Given the description of an element on the screen output the (x, y) to click on. 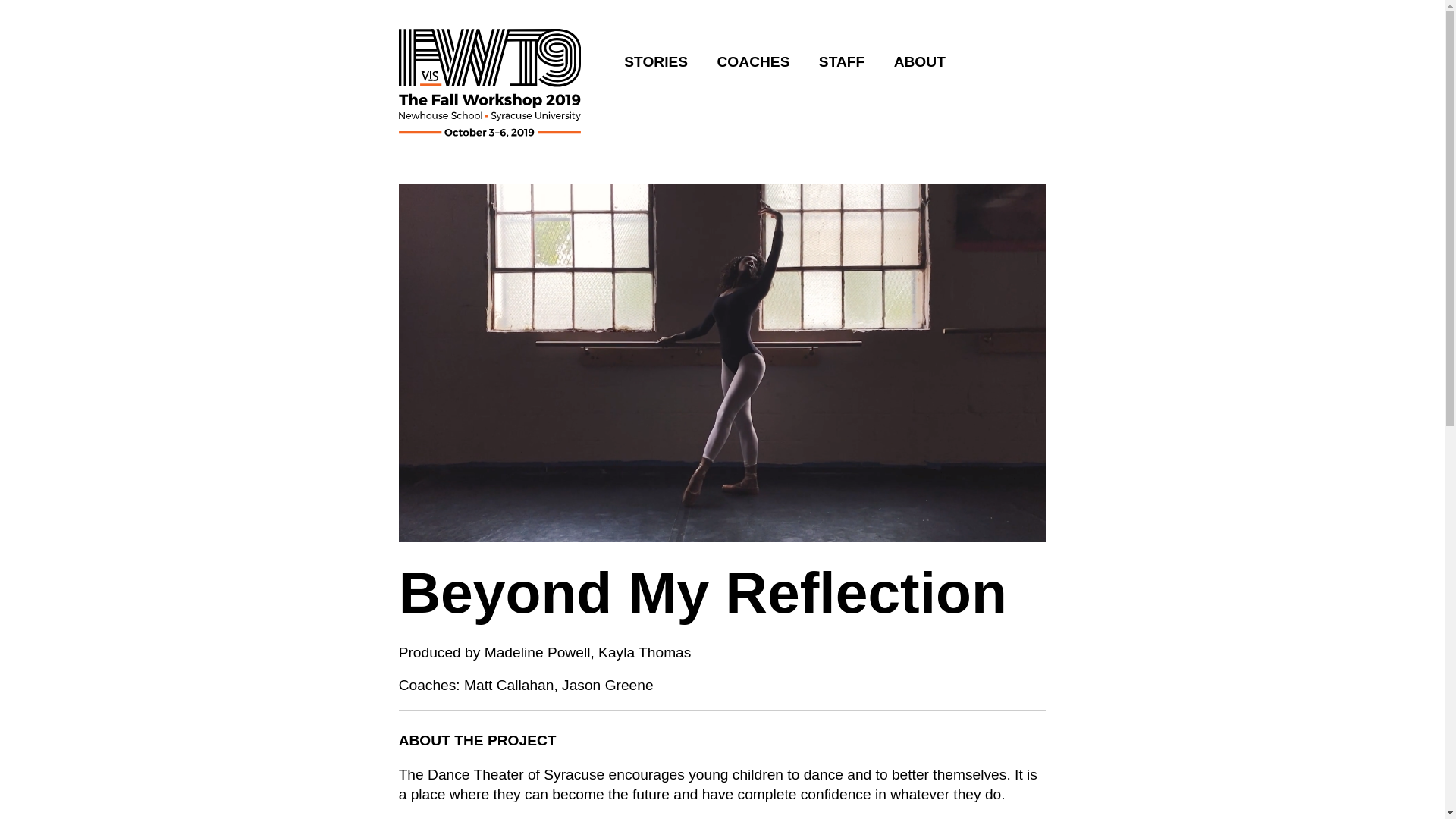
ABOUT (918, 61)
STORIES (655, 61)
COACHES (753, 61)
STAFF (841, 61)
